Given the description of an element on the screen output the (x, y) to click on. 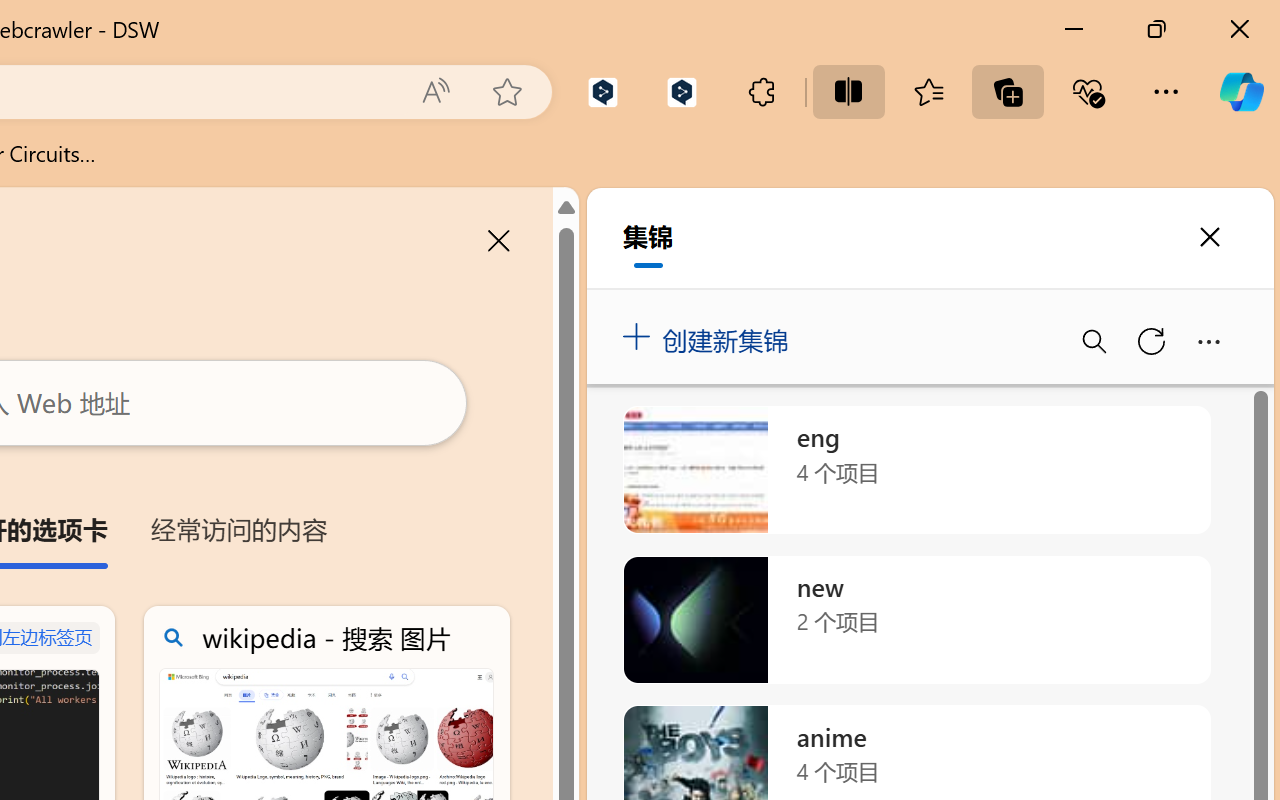
Copilot (Ctrl+Shift+.) (1241, 91)
